Given the description of an element on the screen output the (x, y) to click on. 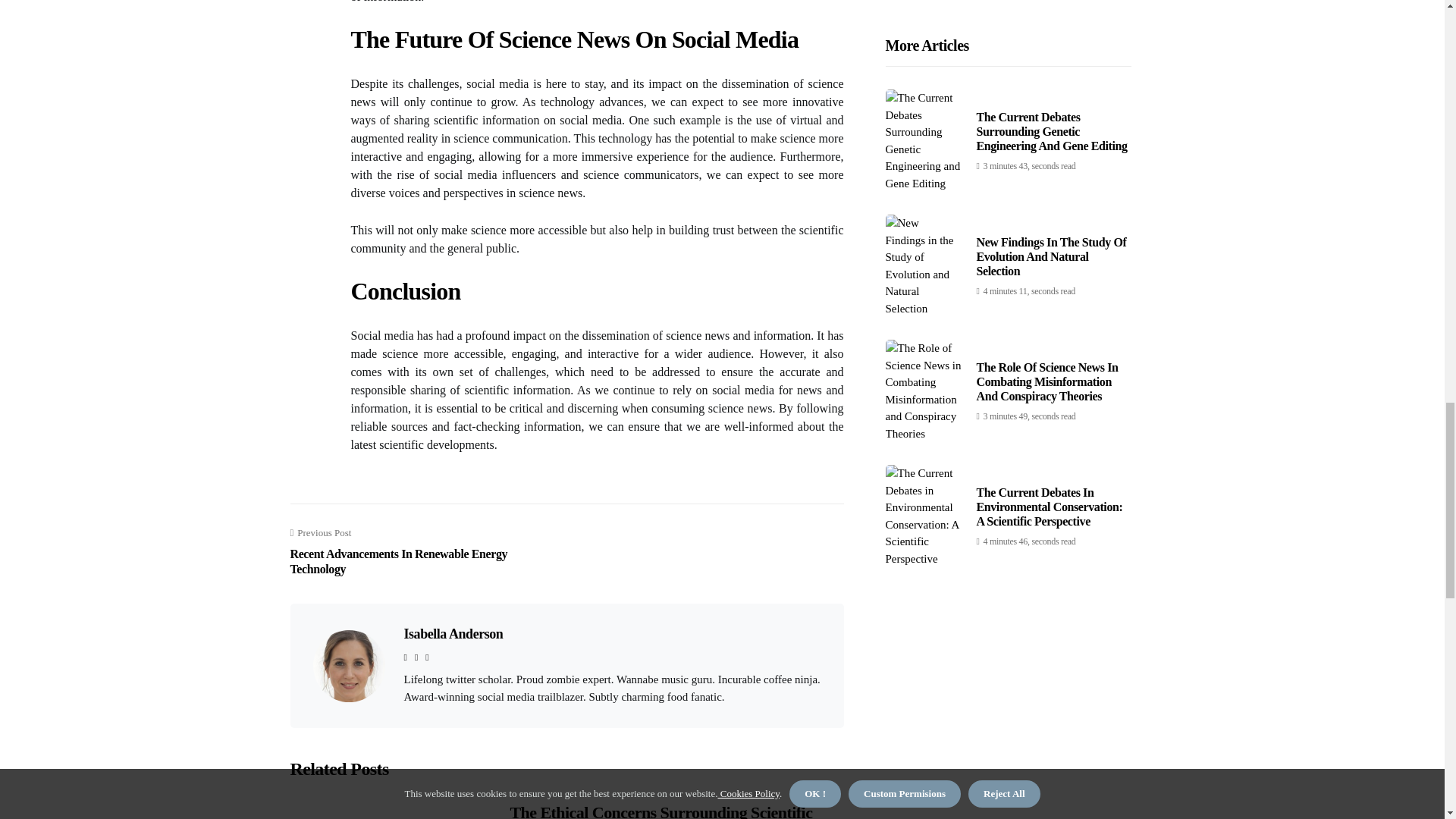
Isabella Anderson (452, 633)
